Given the description of an element on the screen output the (x, y) to click on. 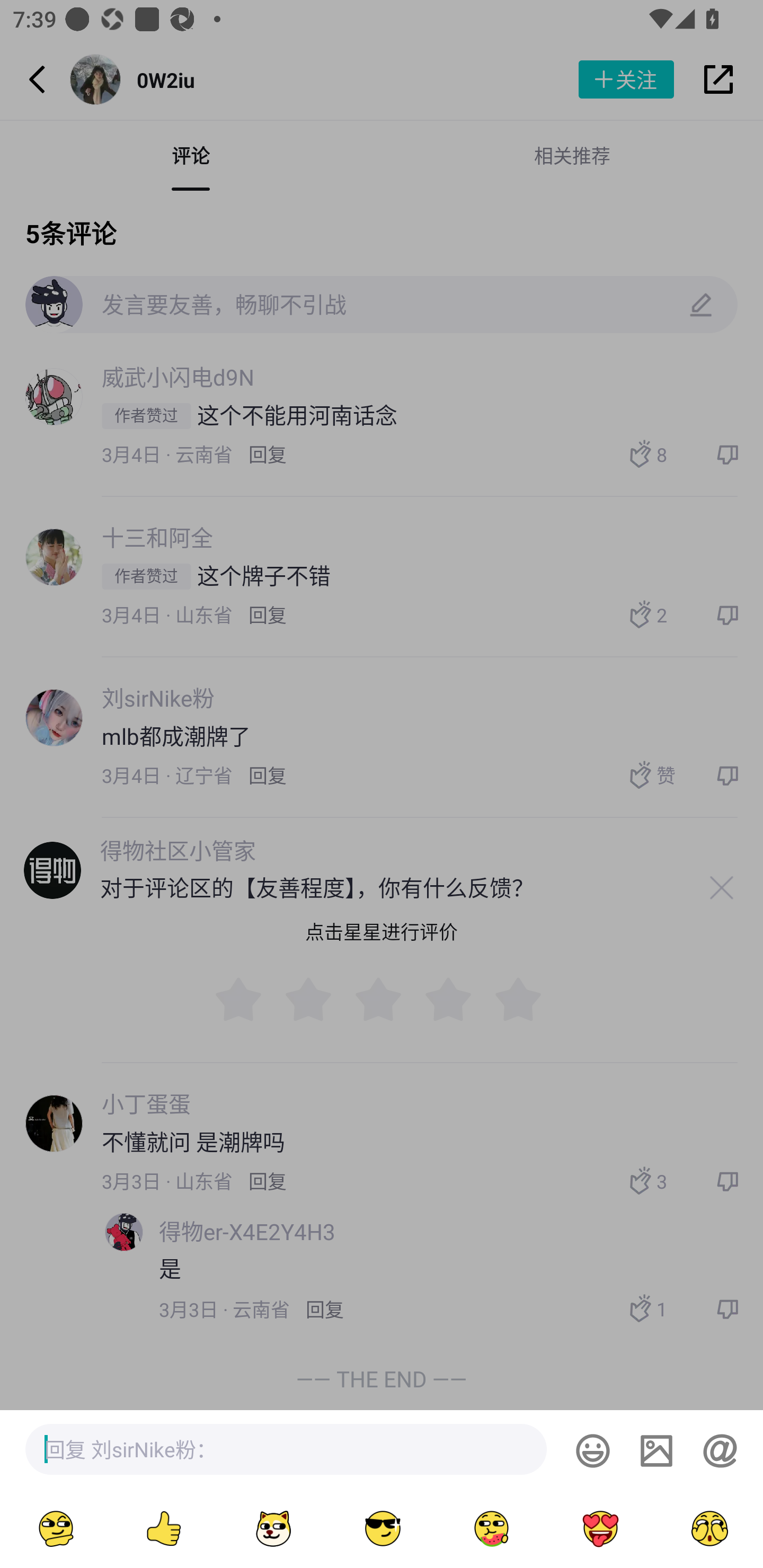
回复 刘sirNike粉： (286, 1449)
[装到了] (54, 1528)
[点赞] (163, 1528)
[狗头] (271, 1528)
[耍酷] (381, 1528)
[吃瓜] (490, 1528)
[爱心] (599, 1528)
[捂脸] (708, 1528)
